Given the description of an element on the screen output the (x, y) to click on. 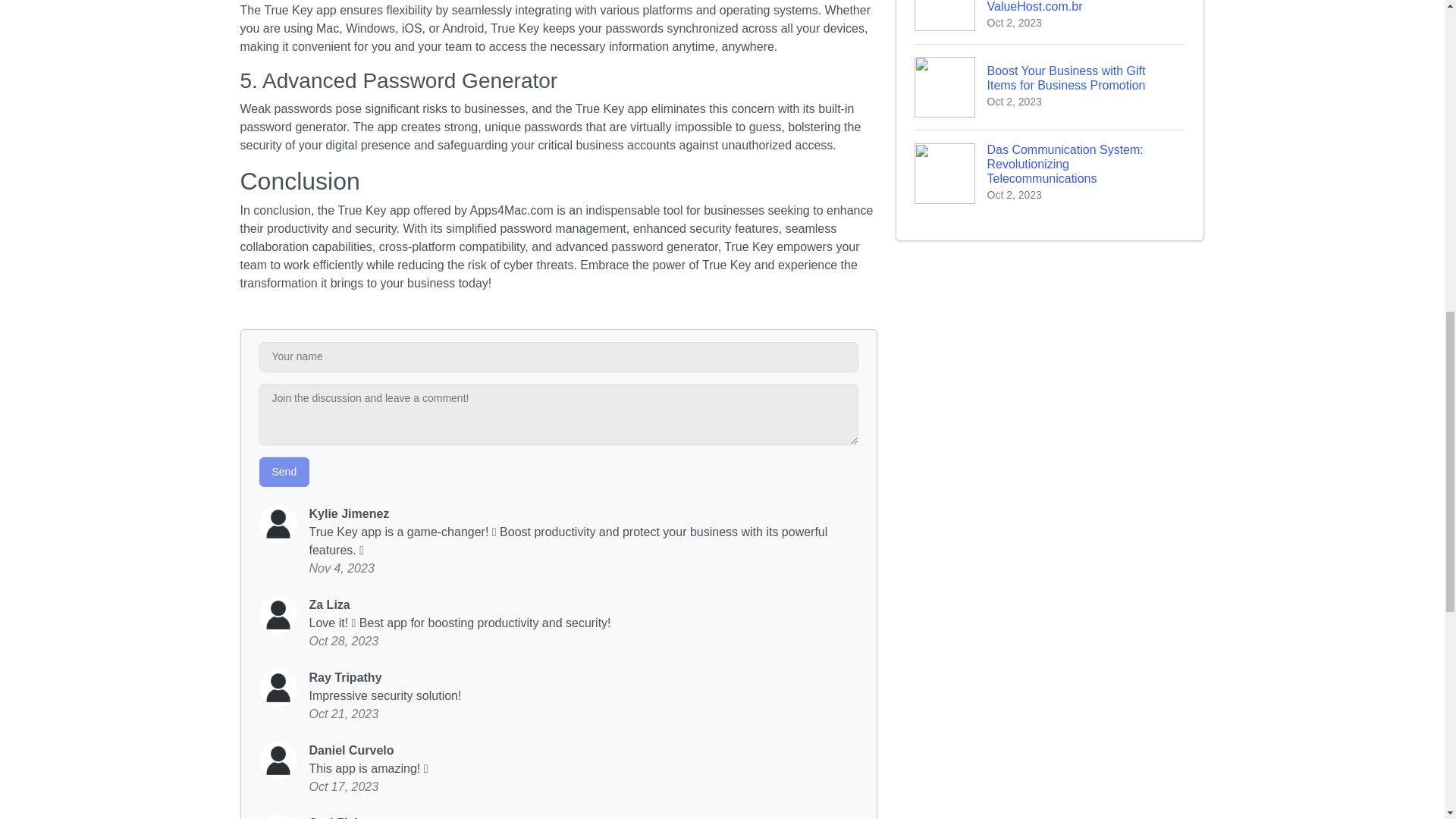
Send (284, 471)
Send (284, 471)
